Given the description of an element on the screen output the (x, y) to click on. 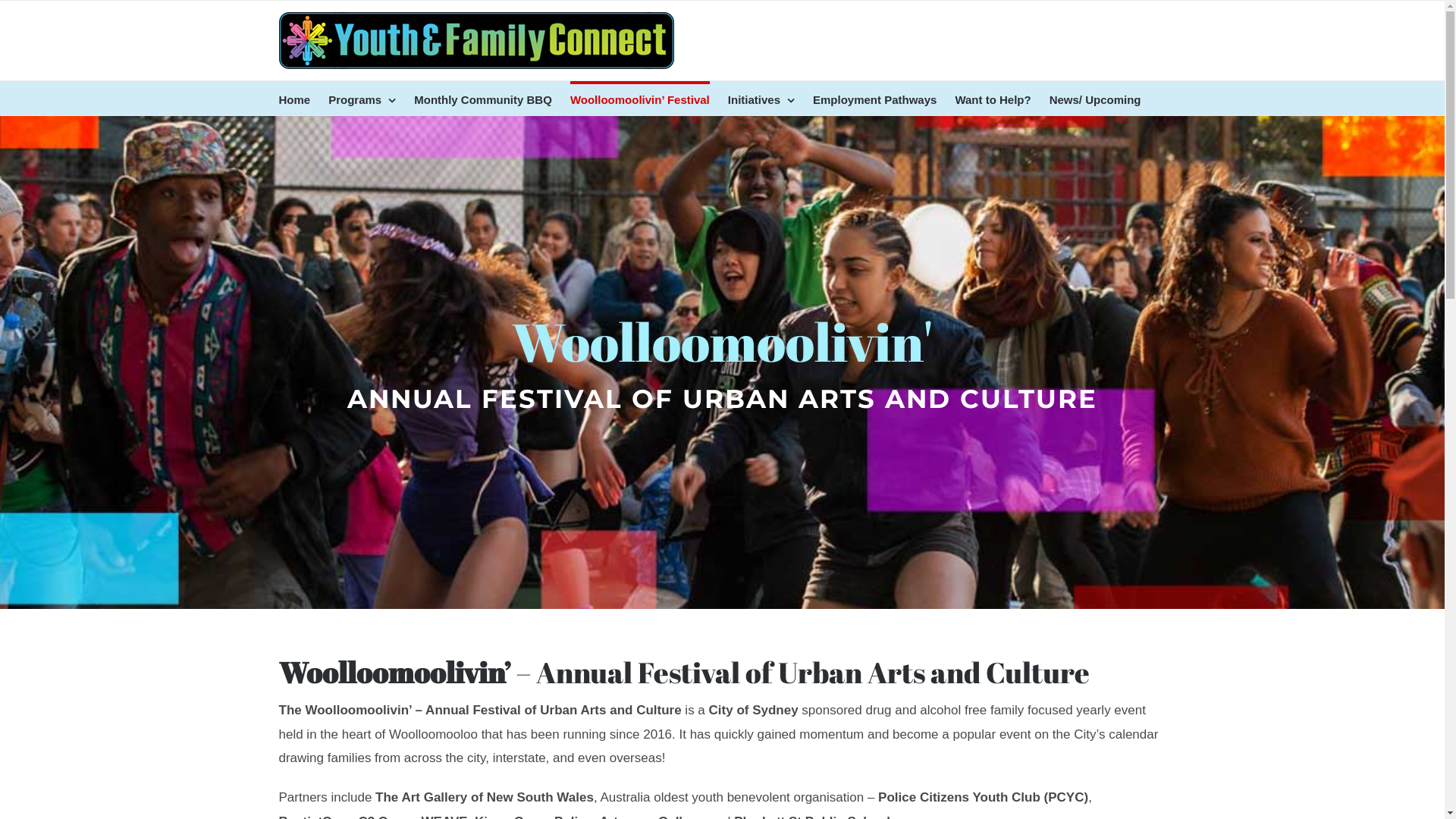
Want to Help? Element type: text (992, 98)
Monthly Community BBQ Element type: text (483, 98)
Initiatives Element type: text (761, 98)
News/ Upcoming Element type: text (1095, 98)
Home Element type: text (294, 98)
Programs Element type: text (361, 98)
Employment Pathways Element type: text (874, 98)
